Given the description of an element on the screen output the (x, y) to click on. 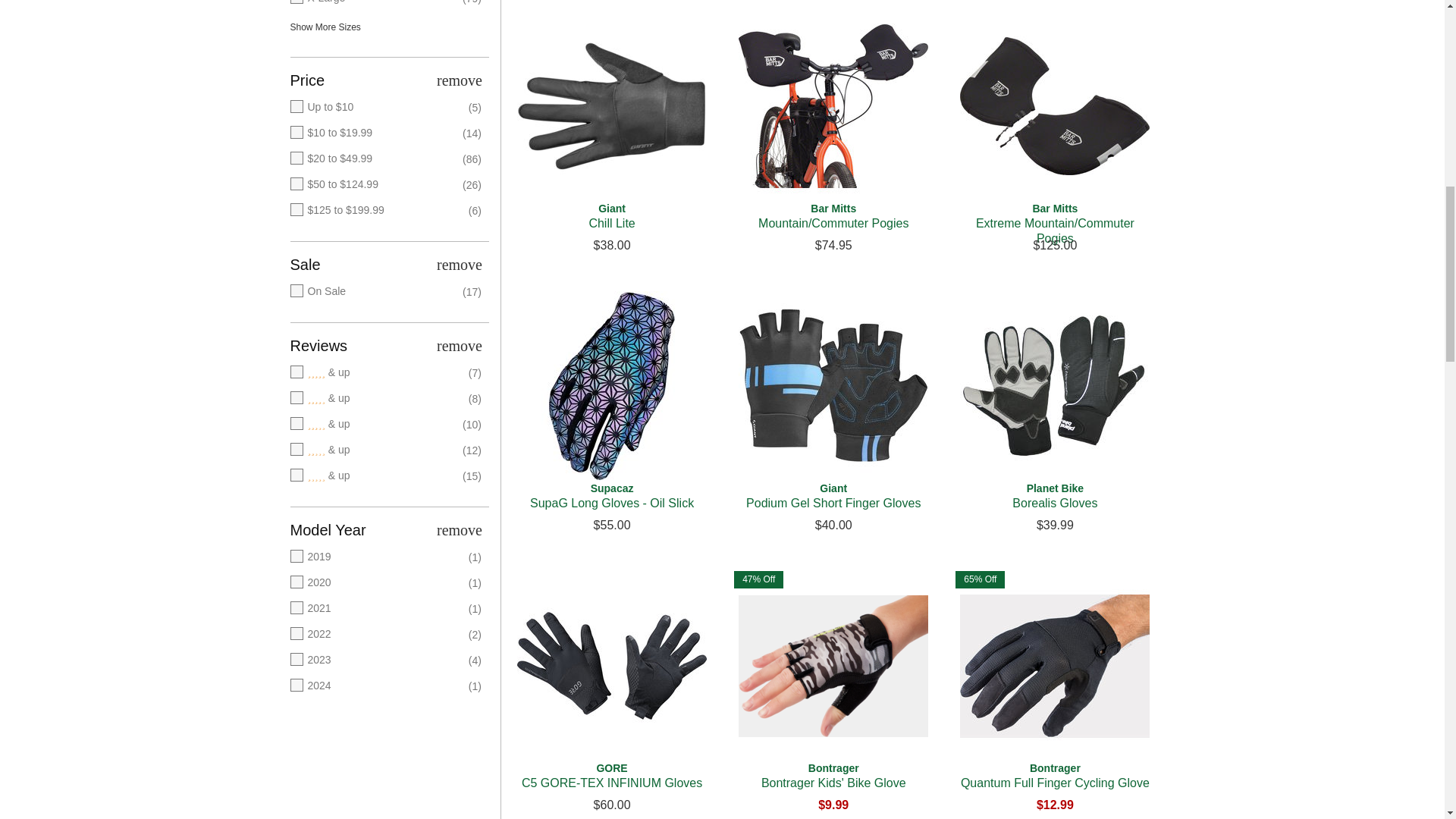
3 (375, 424)
1 (375, 476)
4 (375, 398)
5 (375, 372)
2 (375, 450)
